Given the description of an element on the screen output the (x, y) to click on. 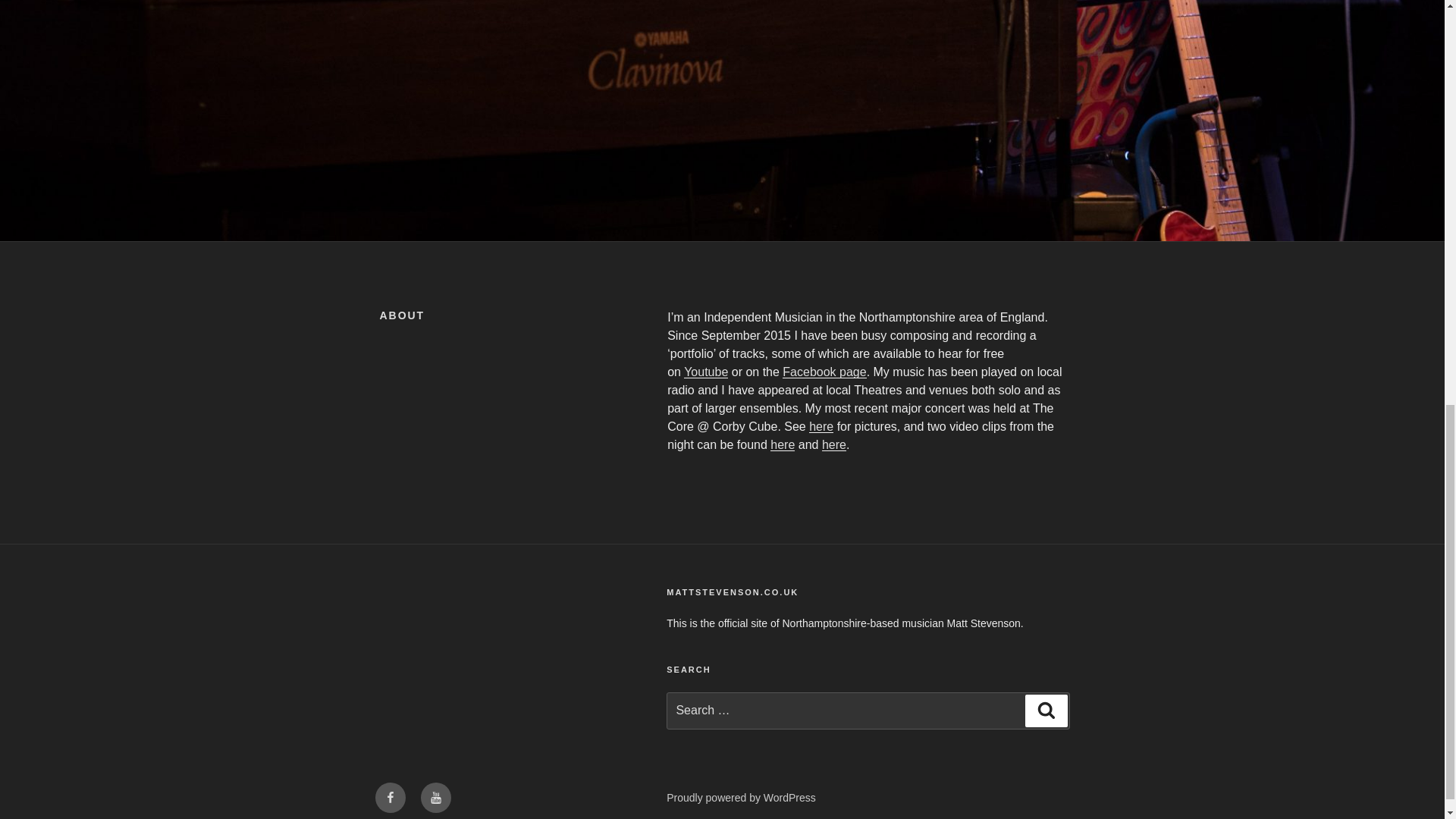
Proudly powered by WordPress (740, 797)
here (820, 426)
Search (1046, 710)
Youtube (706, 371)
Facebook (389, 797)
here (833, 444)
Facebook page (824, 371)
here (782, 444)
Youtube (435, 797)
